Given the description of an element on the screen output the (x, y) to click on. 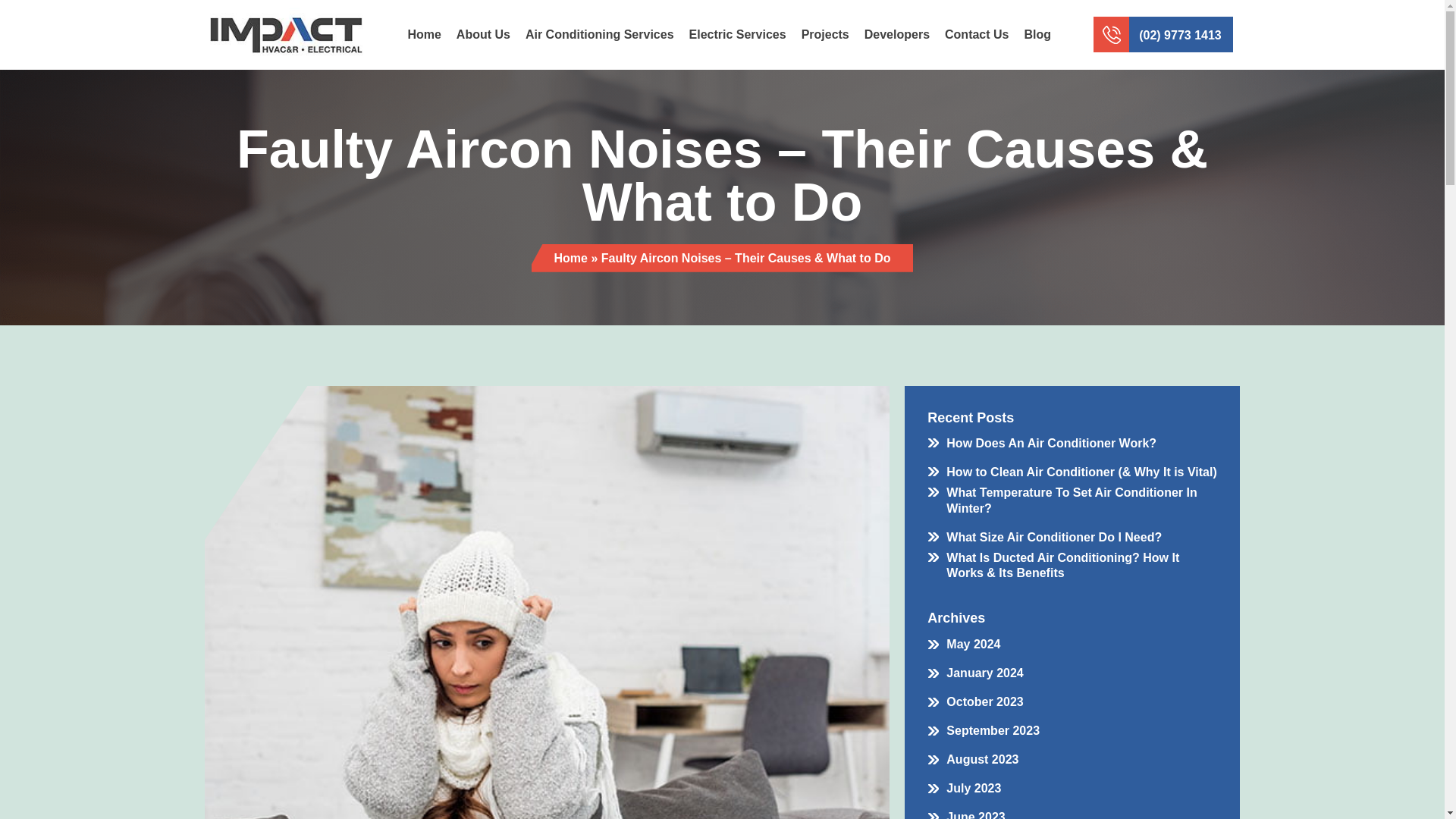
About Us (483, 34)
Air Conditioning Services (599, 34)
Home (423, 34)
Projects (825, 34)
Electric Services (737, 34)
Contact Us (976, 34)
Blog (1037, 34)
Developers (897, 34)
